Given the description of an element on the screen output the (x, y) to click on. 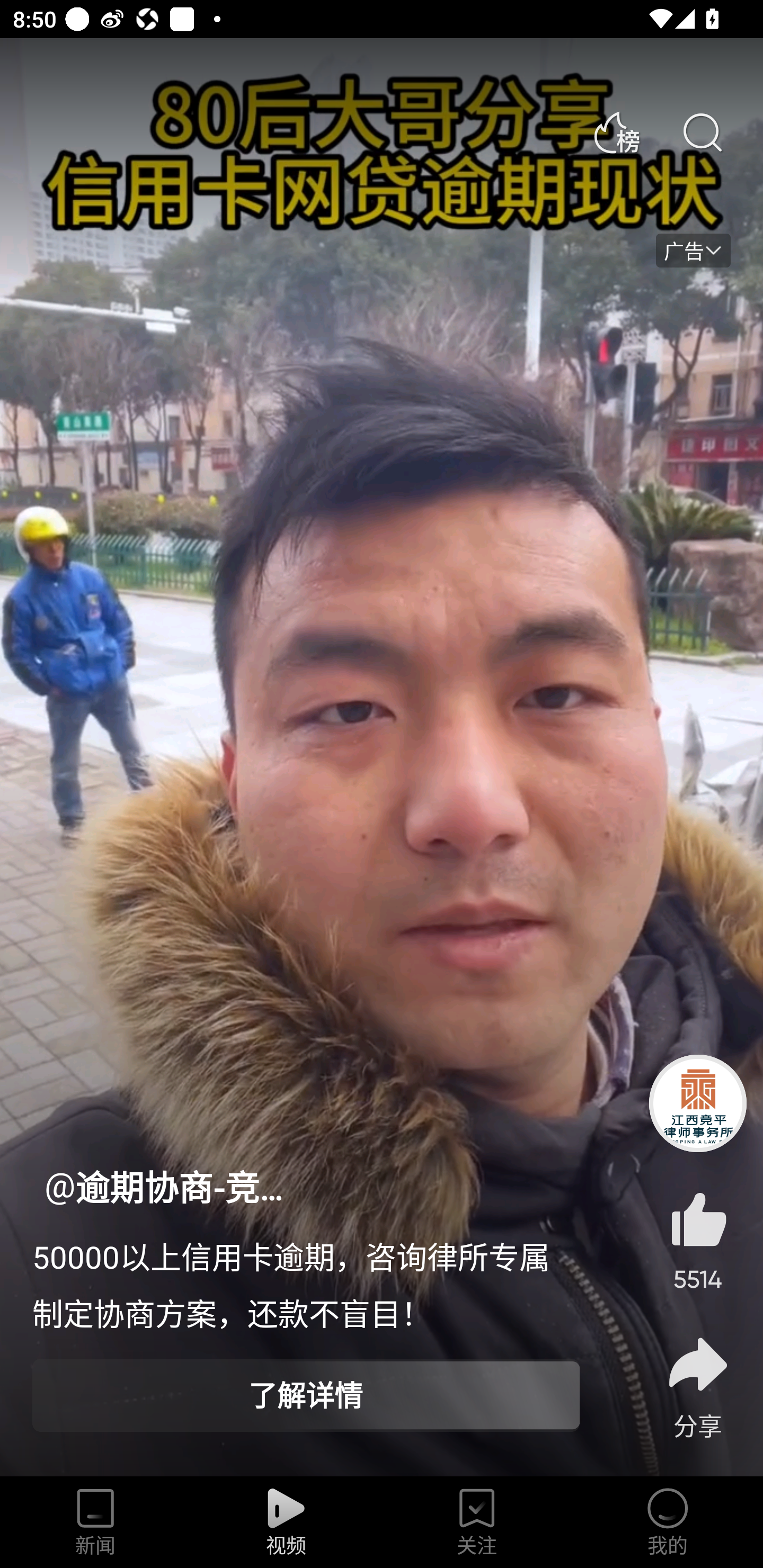
 热榜 (616, 133)
 搜索 (701, 133)
广告 (693, 250)
@ 逾期协商-竞平律师事务所 (170, 1188)
5514 (697, 1229)
50000以上信用卡逾期，咨询律所专属制定协商方案，还款不盲目！ (305, 1283)
 分享 (697, 1386)
了解详情 (305, 1395)
